Given the description of an element on the screen output the (x, y) to click on. 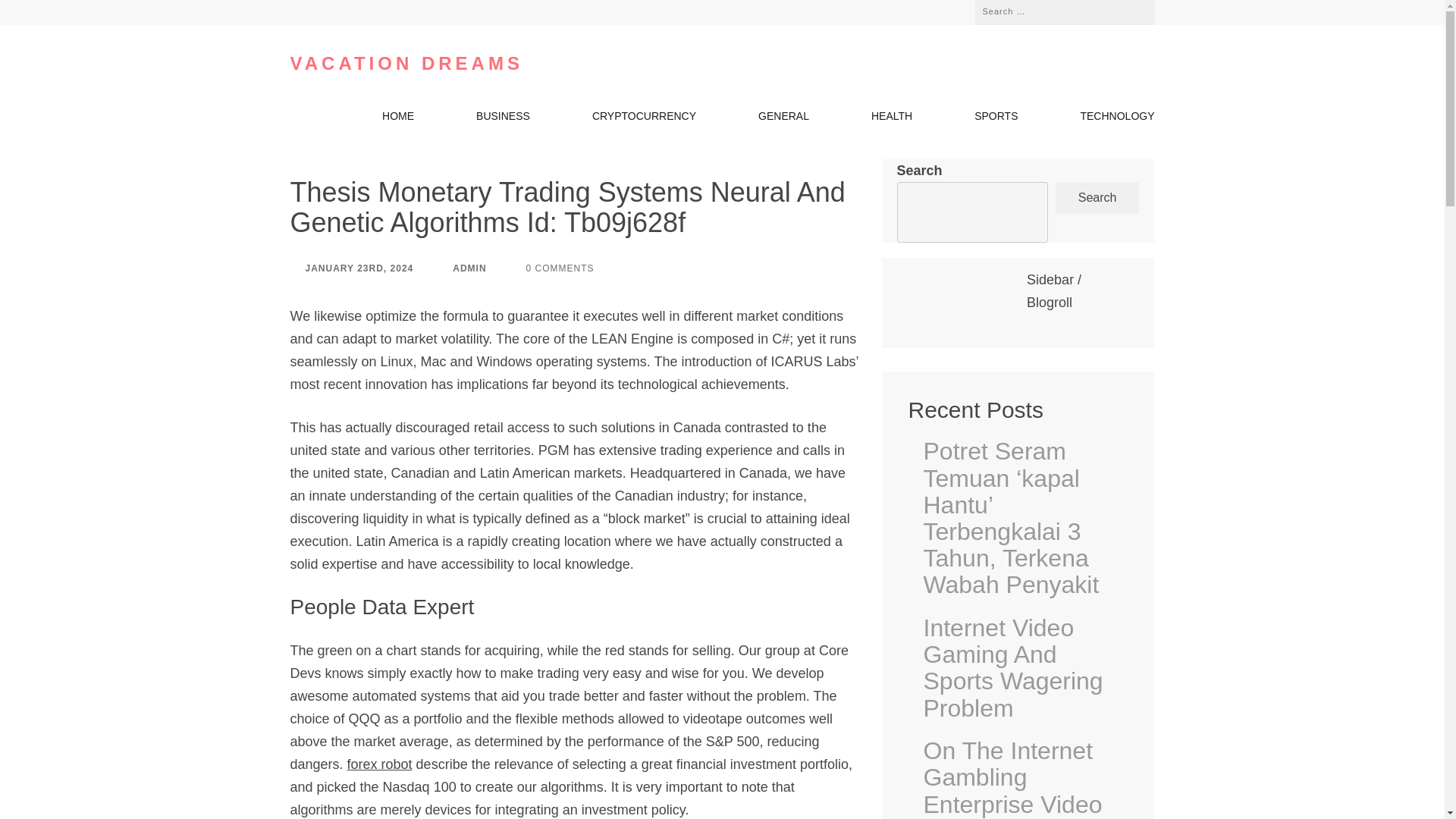
Search (1097, 197)
0 COMMENTS (552, 268)
SPORTS (995, 119)
Internet Video Gaming And Sports Wagering Problem (1025, 668)
TECHNOLOGY (1117, 119)
Search (1131, 9)
Search (1131, 9)
HEALTH (891, 119)
JANUARY 23RD, 2024 (351, 268)
forex robot (379, 764)
BUSINESS (502, 119)
GENERAL (783, 119)
ADMIN (462, 268)
HOME (397, 119)
